Given the description of an element on the screen output the (x, y) to click on. 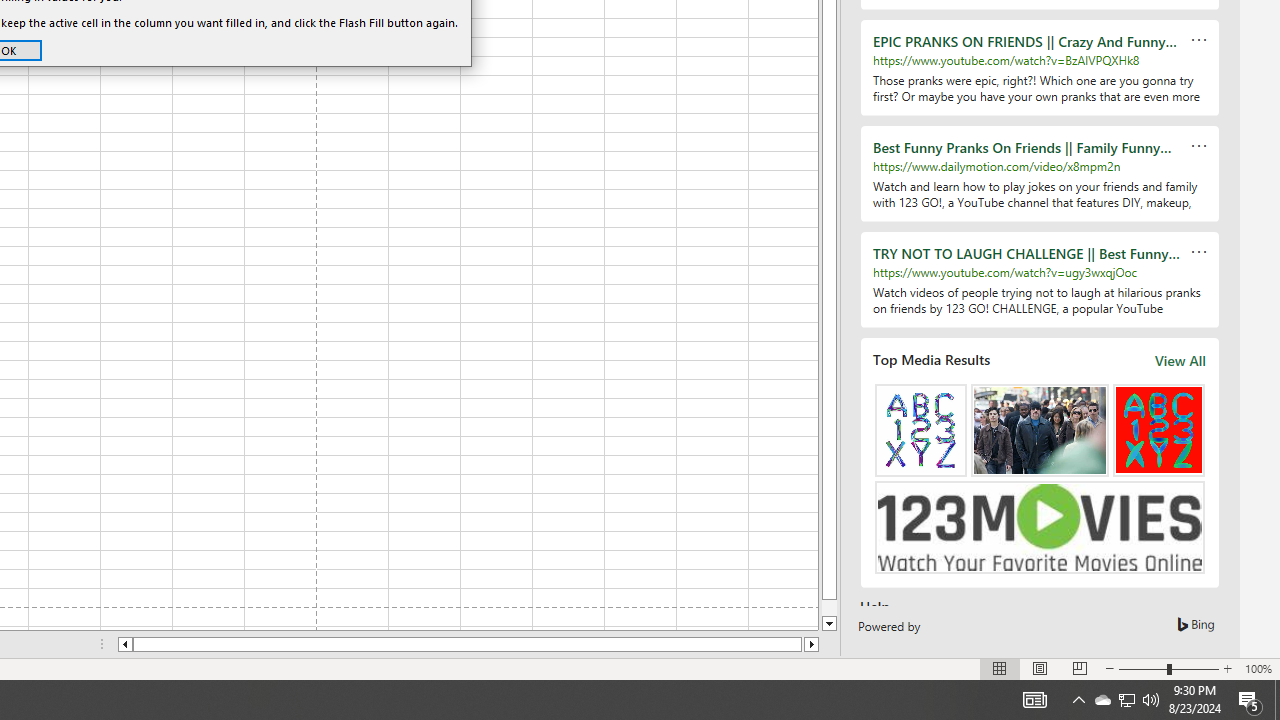
Action Center, 5 new notifications (1102, 699)
Notification Chevron (1126, 699)
Q2790: 100% (1250, 699)
